Given the description of an element on the screen output the (x, y) to click on. 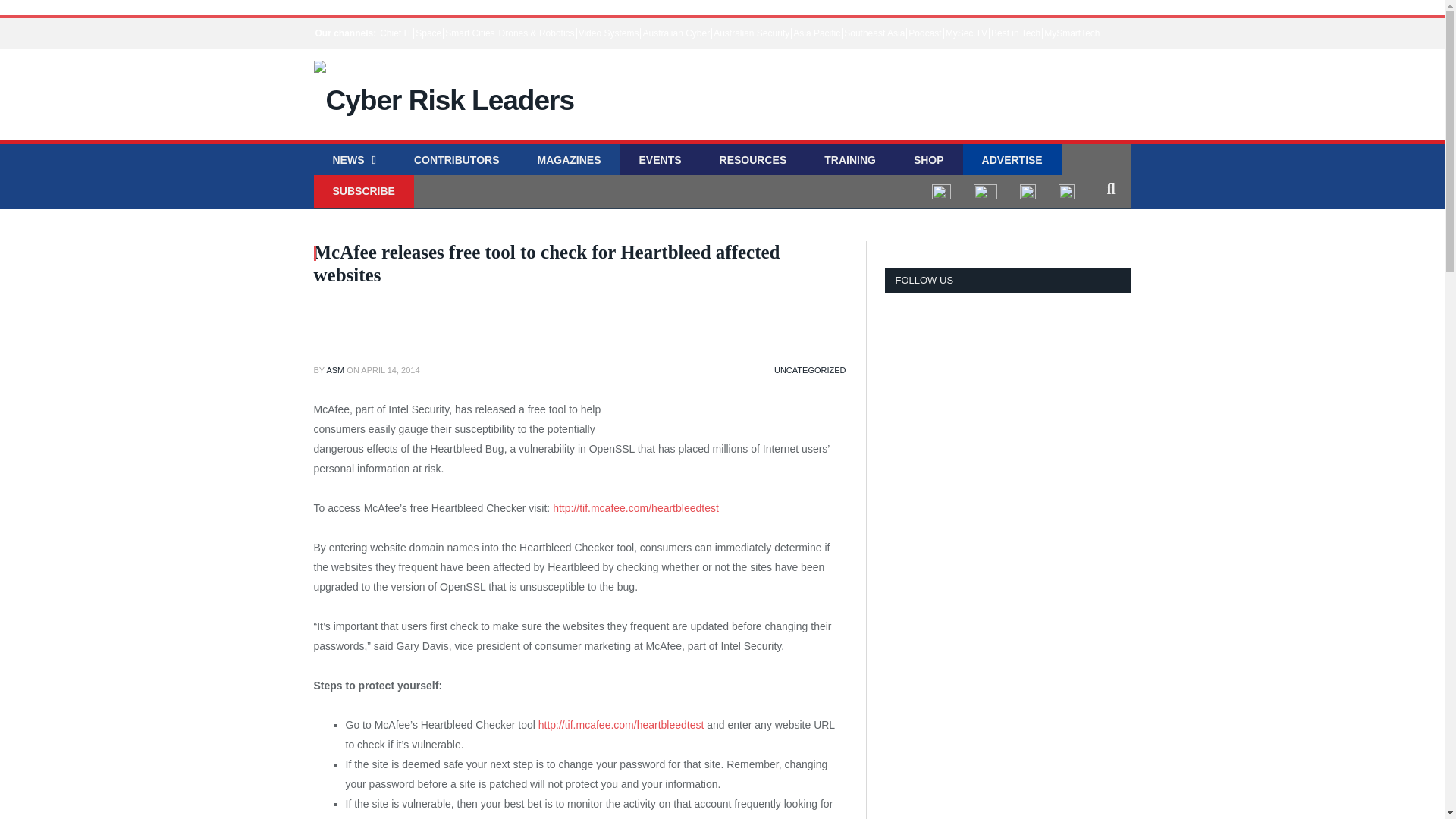
MySec.TV (965, 32)
Australian Cyber (675, 32)
2014-04-14 (390, 369)
Podcast (923, 32)
SUBSCRIBE (363, 191)
SHOP (928, 161)
NEWS (354, 161)
RESOURCES (753, 161)
Asia Pacific (815, 32)
Our channels: (346, 32)
